Given the description of an element on the screen output the (x, y) to click on. 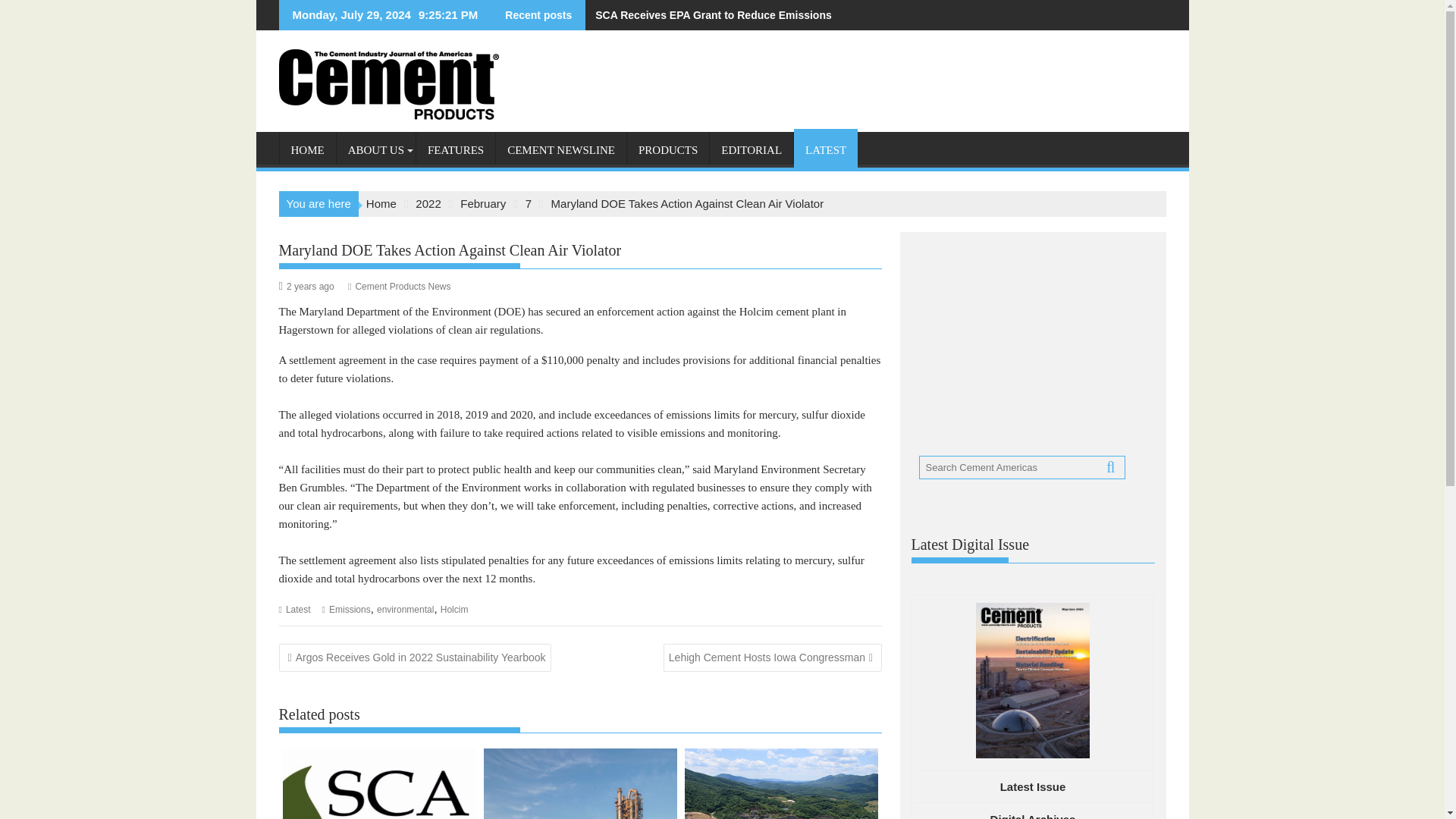
2 years ago (310, 286)
LATEST (825, 149)
HOME (306, 149)
FEATURES (455, 149)
SCA Receives EPA Grant to Reduce Emissions (708, 15)
EDITORIAL (751, 149)
2022 (427, 203)
Cement Products News (402, 286)
February (482, 203)
Home (381, 203)
CEMENT NEWSLINE (561, 149)
ABOUT US (375, 149)
SCA Receives EPA Grant to Reduce Emissions (708, 15)
3rd party ad content (1024, 338)
Latest (298, 609)
